Given the description of an element on the screen output the (x, y) to click on. 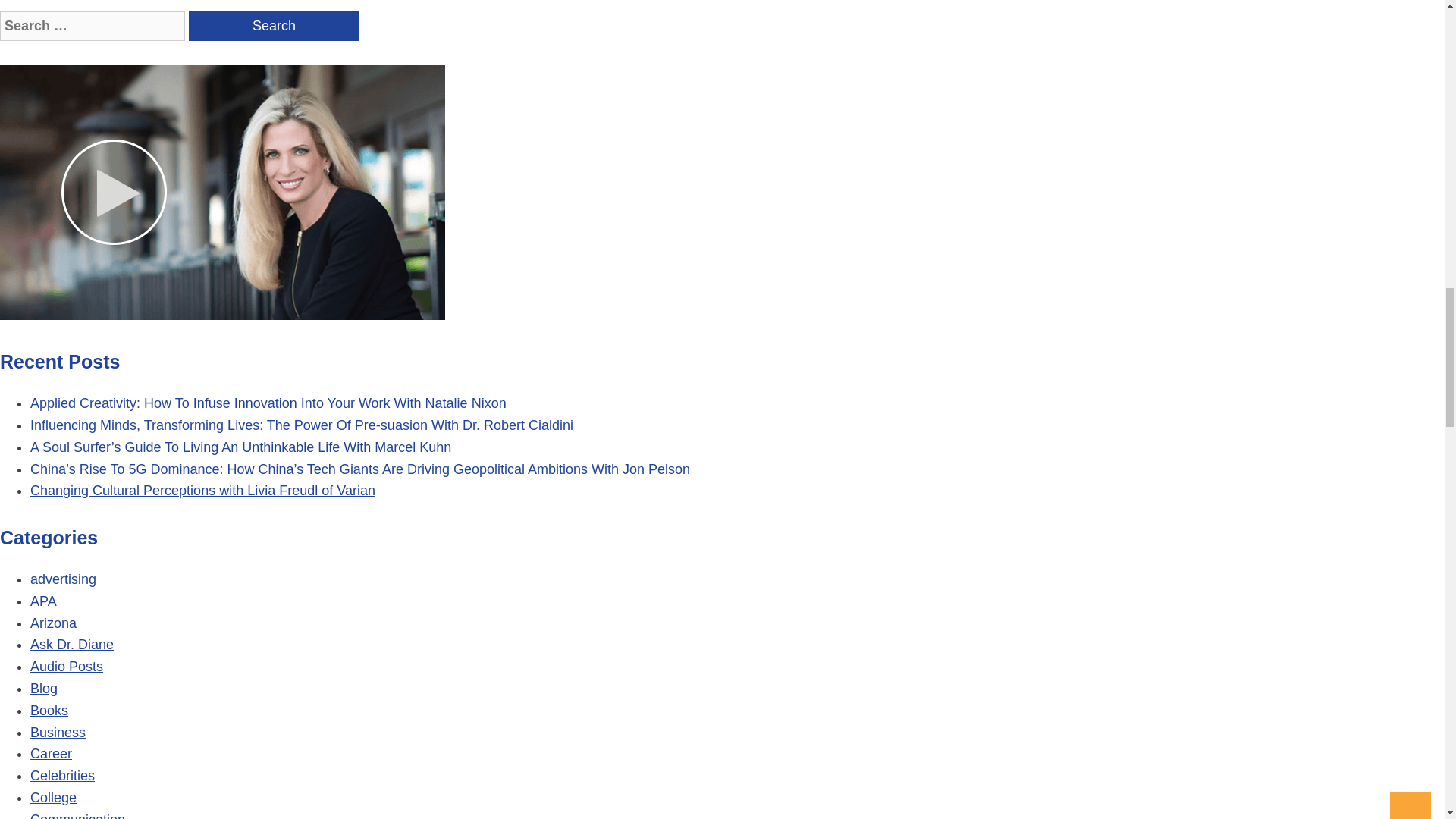
Search (274, 25)
Search (274, 25)
advertising (63, 579)
APA (43, 601)
Arizona (53, 622)
Changing Cultural Perceptions with Livia Freudl of Varian (202, 490)
Search (274, 25)
